Given the description of an element on the screen output the (x, y) to click on. 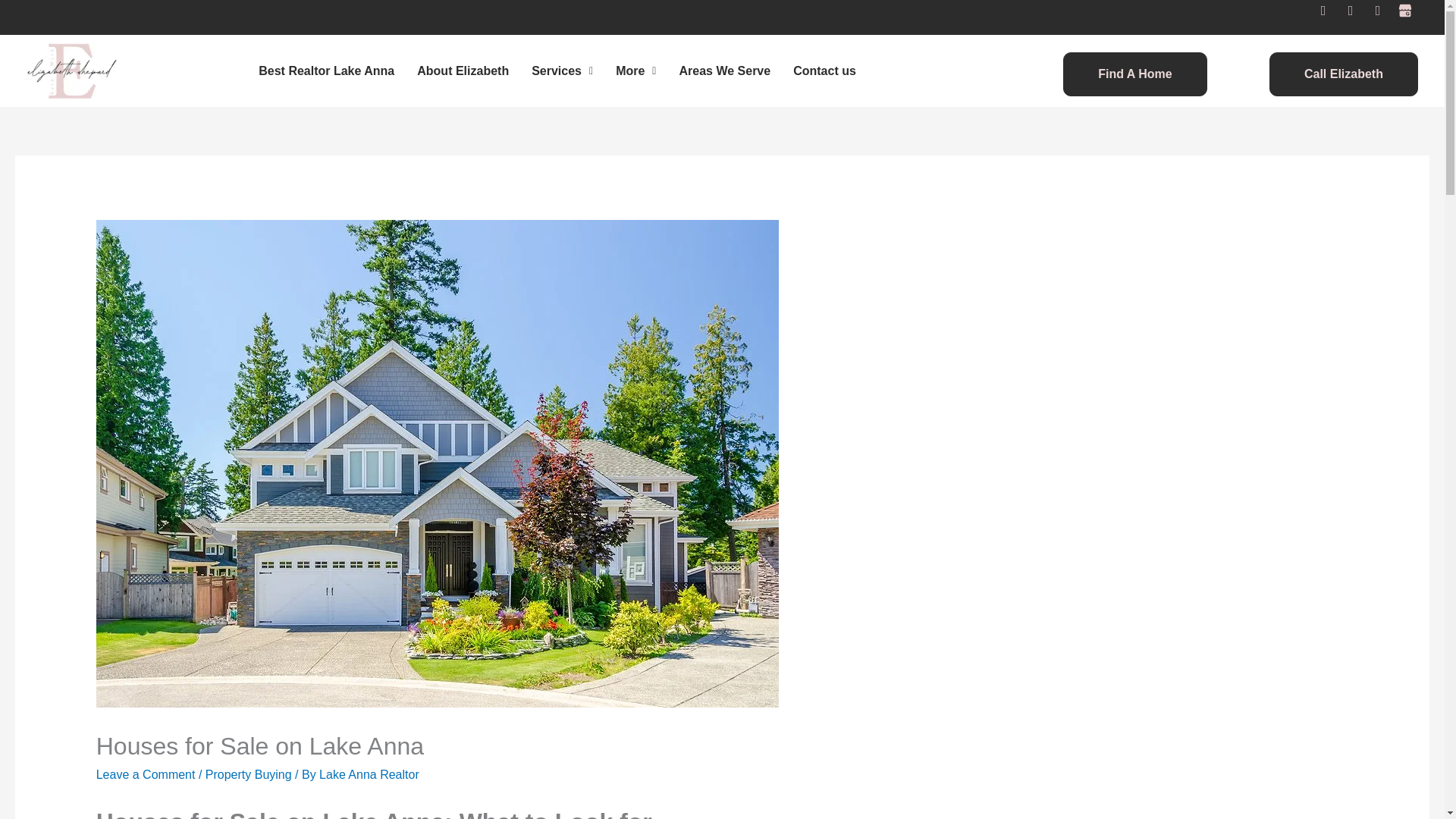
Areas We Serve (723, 70)
View all posts by Lake Anna Realtor (368, 774)
Services (561, 70)
About Elizabeth (462, 70)
Contact us (824, 70)
Best Realtor Lake Anna (326, 70)
Call Elizabeth (1343, 73)
More (635, 70)
Find A Home (1134, 73)
Property Buying (248, 774)
Lake Anna Realtor (368, 774)
Leave a Comment (145, 774)
